Given the description of an element on the screen output the (x, y) to click on. 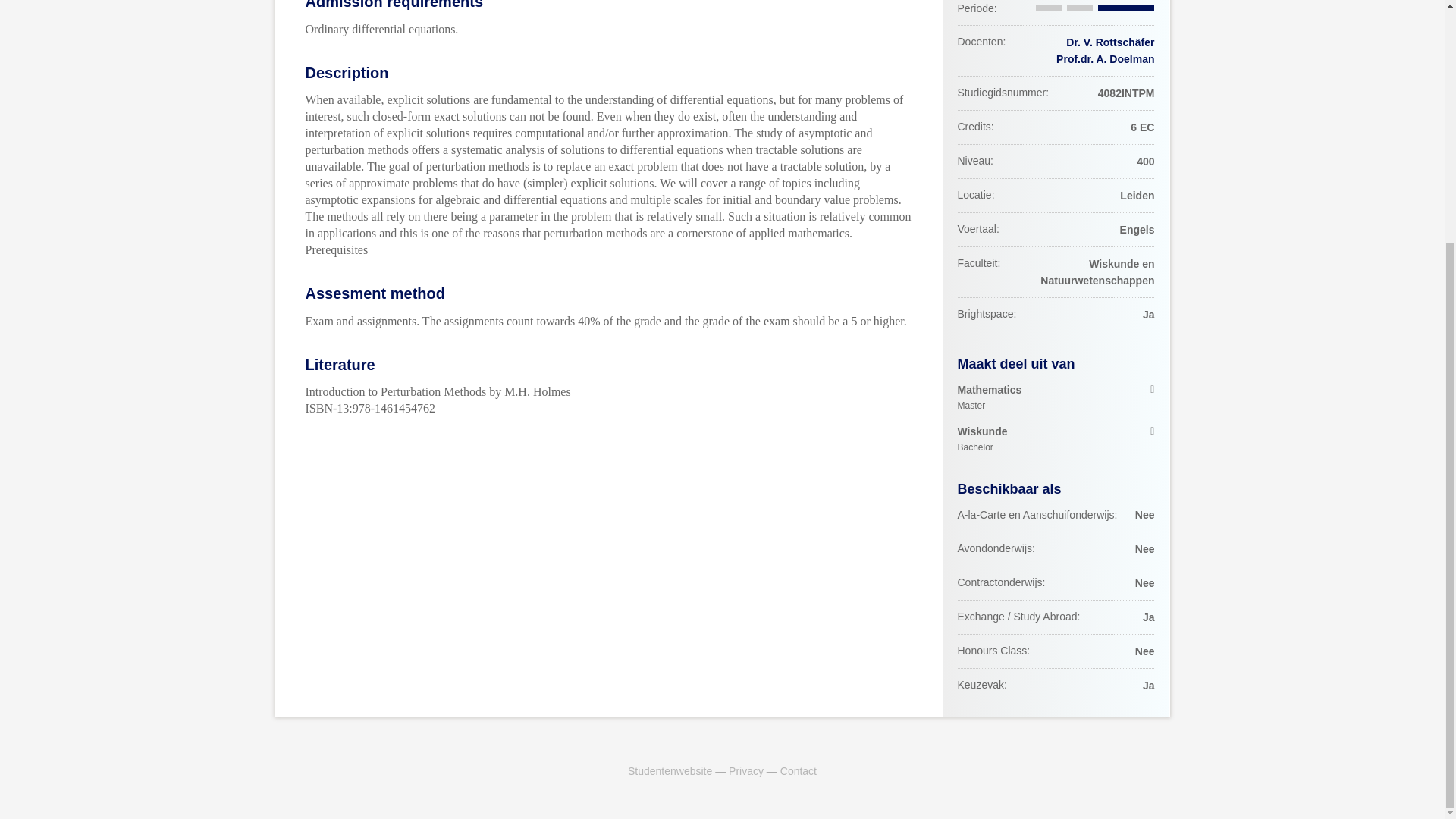
Prof.dr. A. Doelman (1105, 59)
Contact (1055, 439)
Privacy (798, 770)
Studentenwebsite (745, 770)
